Given the description of an element on the screen output the (x, y) to click on. 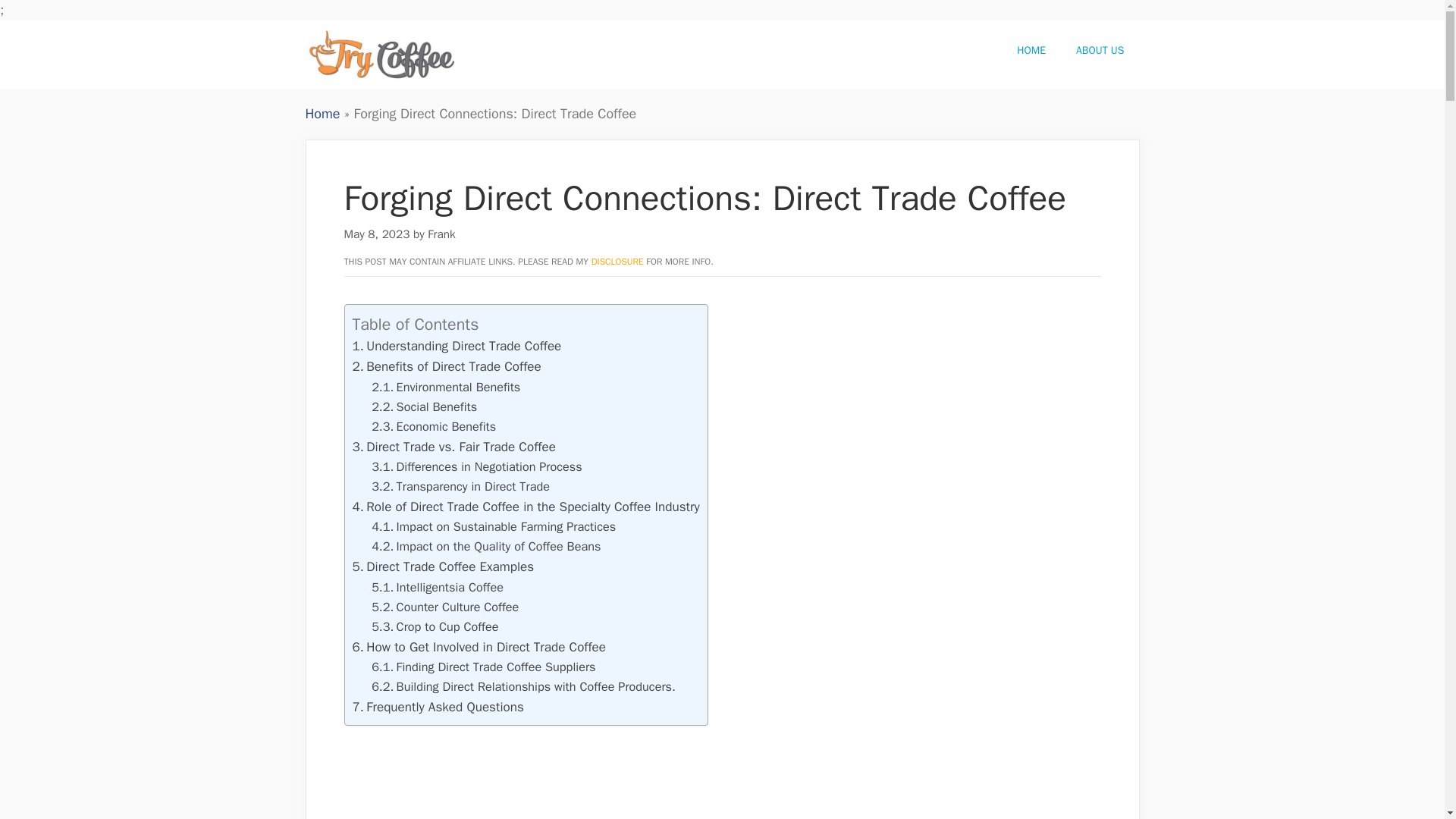
View all posts by Frank (441, 233)
HOME (1031, 50)
Direct Trade vs. Fair Trade Coffee (453, 446)
Finding Direct Trade Coffee Suppliers (483, 666)
Role of Direct Trade Coffee in the Specialty Coffee Industry (525, 506)
Frequently Asked Questions (437, 706)
Benefits of Direct Trade Coffee (446, 366)
How to Get Involved in Direct Trade Coffee (478, 647)
Transparency in Direct Trade (460, 486)
Building Direct Relationships with Coffee Producers. (523, 686)
